Given the description of an element on the screen output the (x, y) to click on. 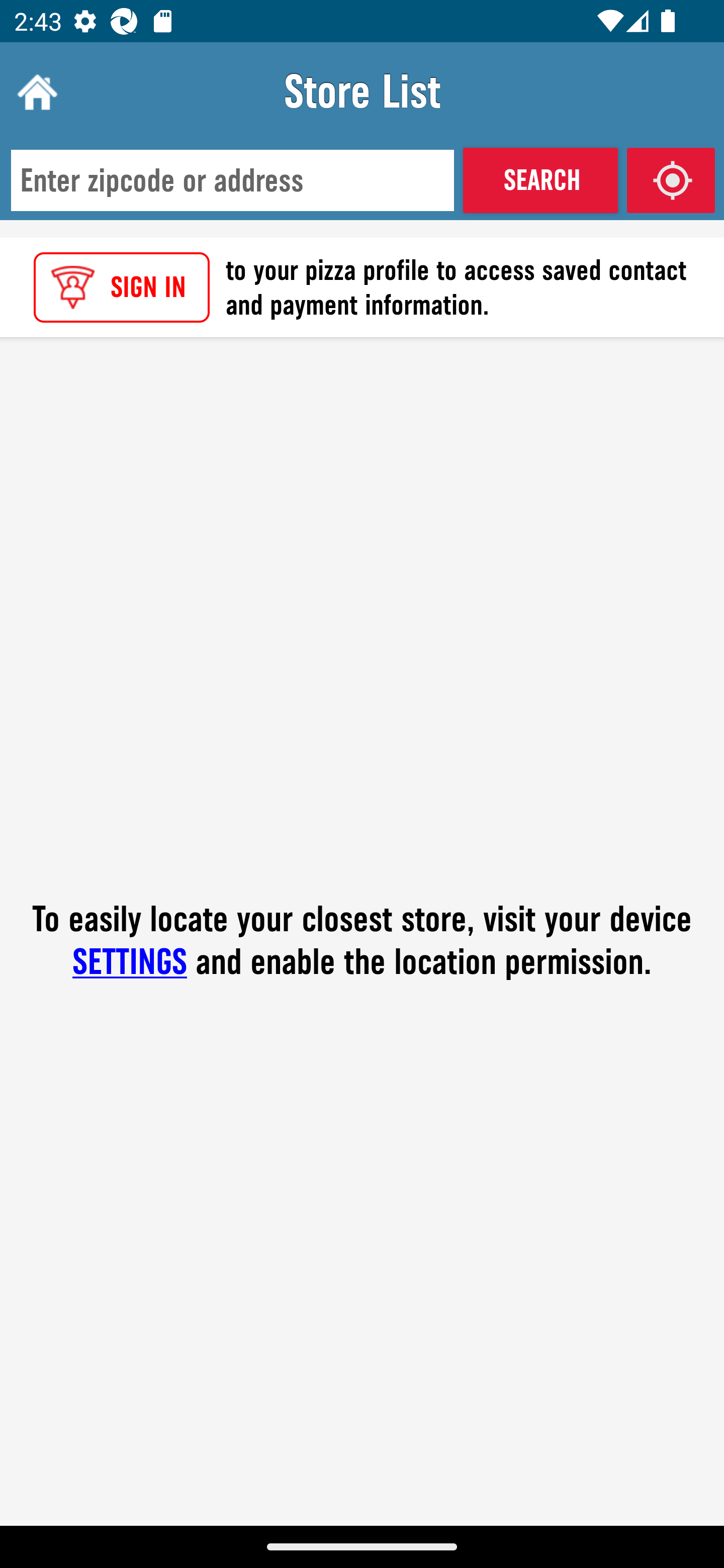
Home (35, 91)
SEARCH (540, 180)
Use Current Location (670, 180)
Enter zipcode or address (231, 180)
SIGN IN (121, 287)
